Given the description of an element on the screen output the (x, y) to click on. 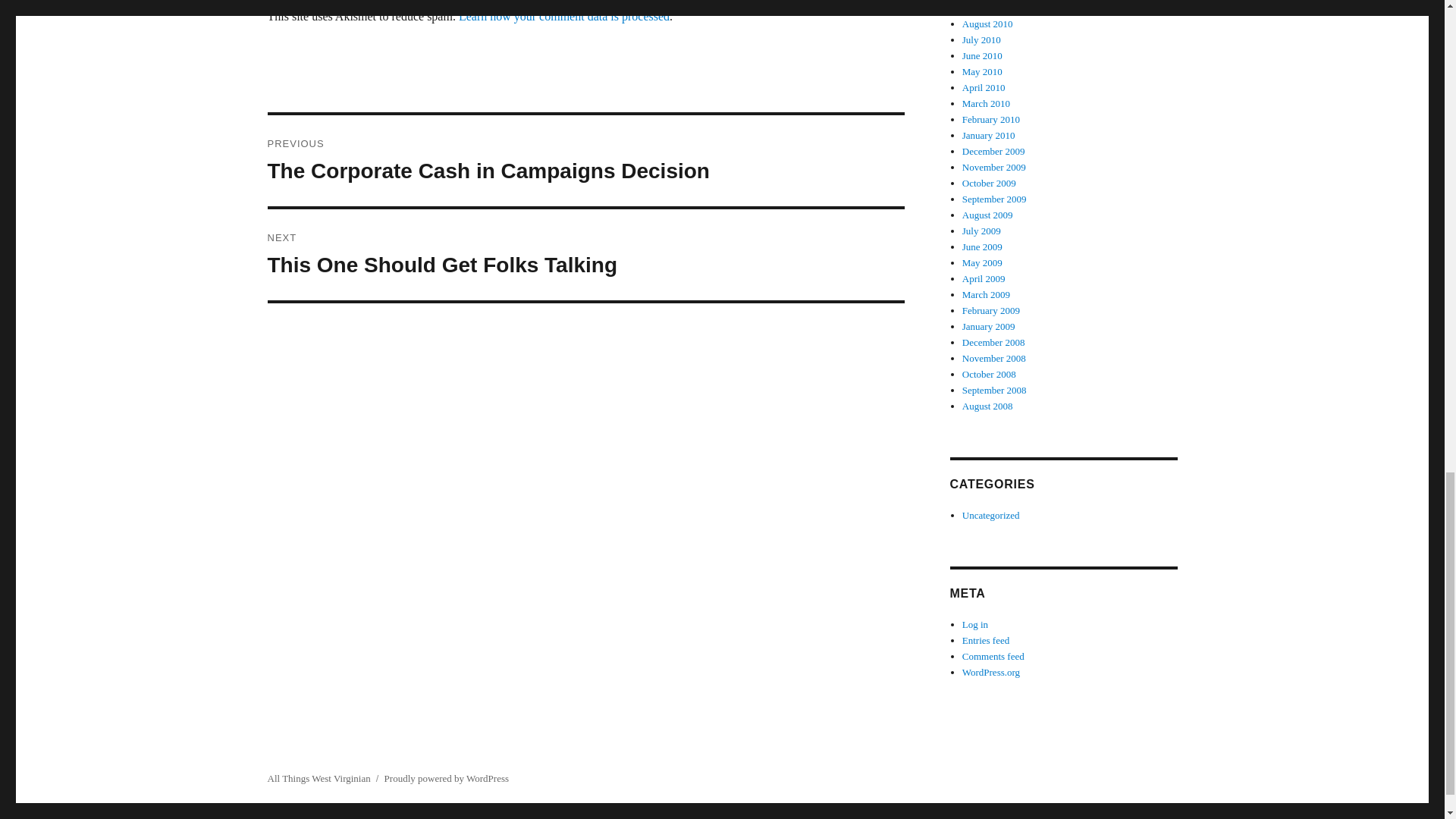
Post Comment (330, 2)
Learn how your comment data is processed (585, 254)
Post Comment (563, 15)
